Given the description of an element on the screen output the (x, y) to click on. 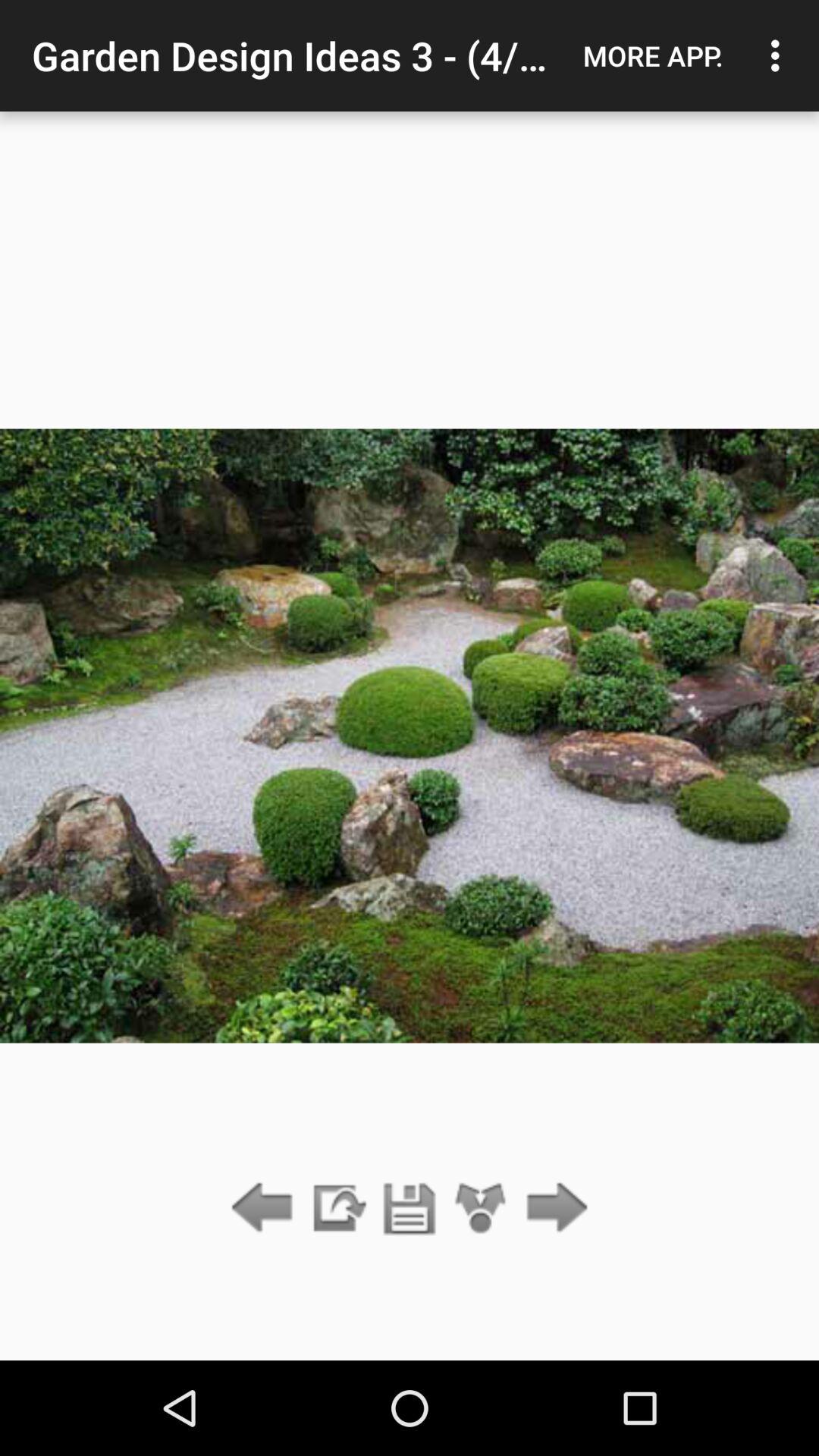
next photo (552, 1209)
